Given the description of an element on the screen output the (x, y) to click on. 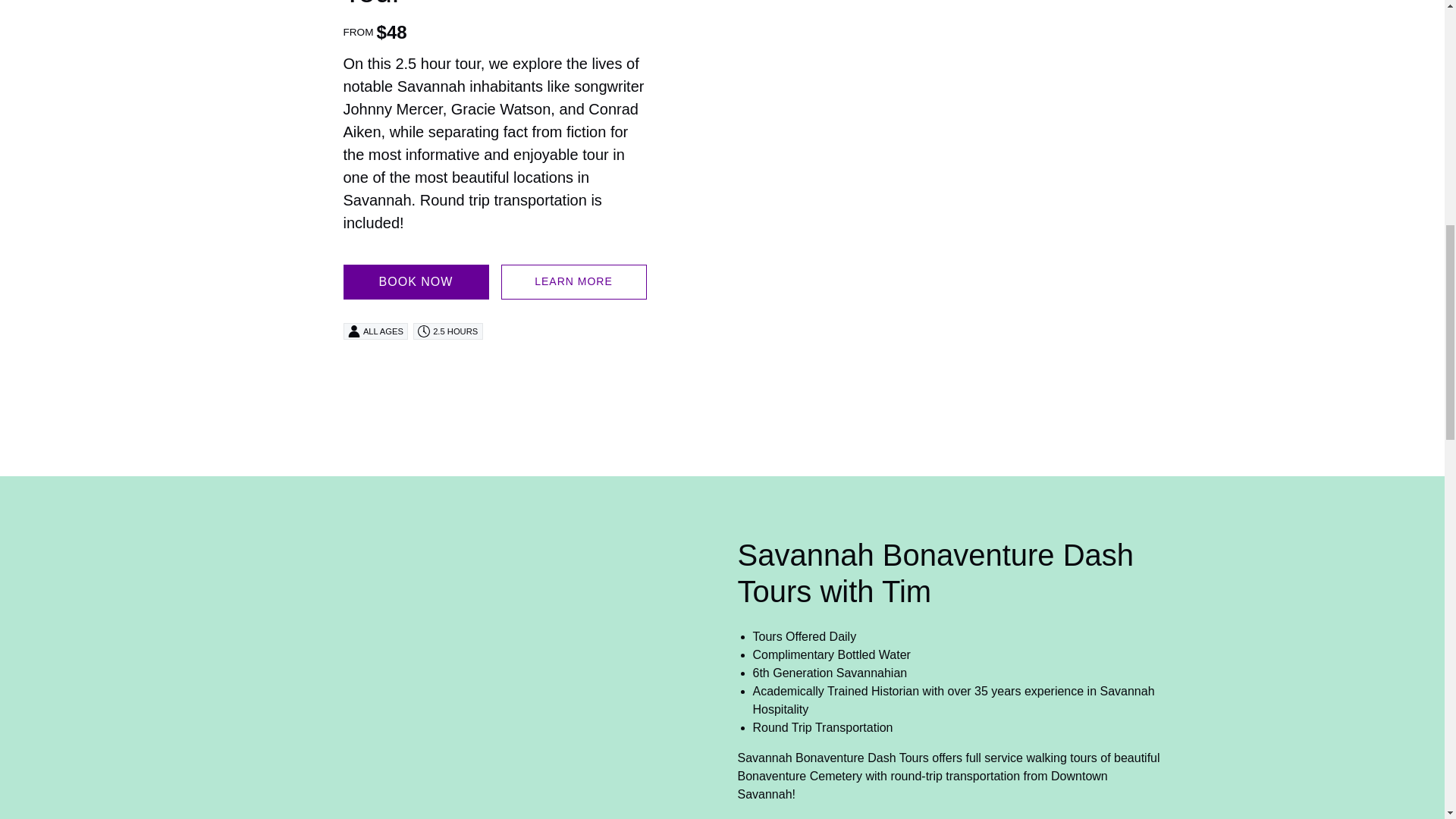
BOOK NOW (414, 281)
LEARN MORE (573, 281)
FareHarbor (1342, 64)
Click here to visit Bonaventure Cemetery Walking Tour (465, 4)
Bonaventure Cemetery Walking Tour (465, 4)
